Given the description of an element on the screen output the (x, y) to click on. 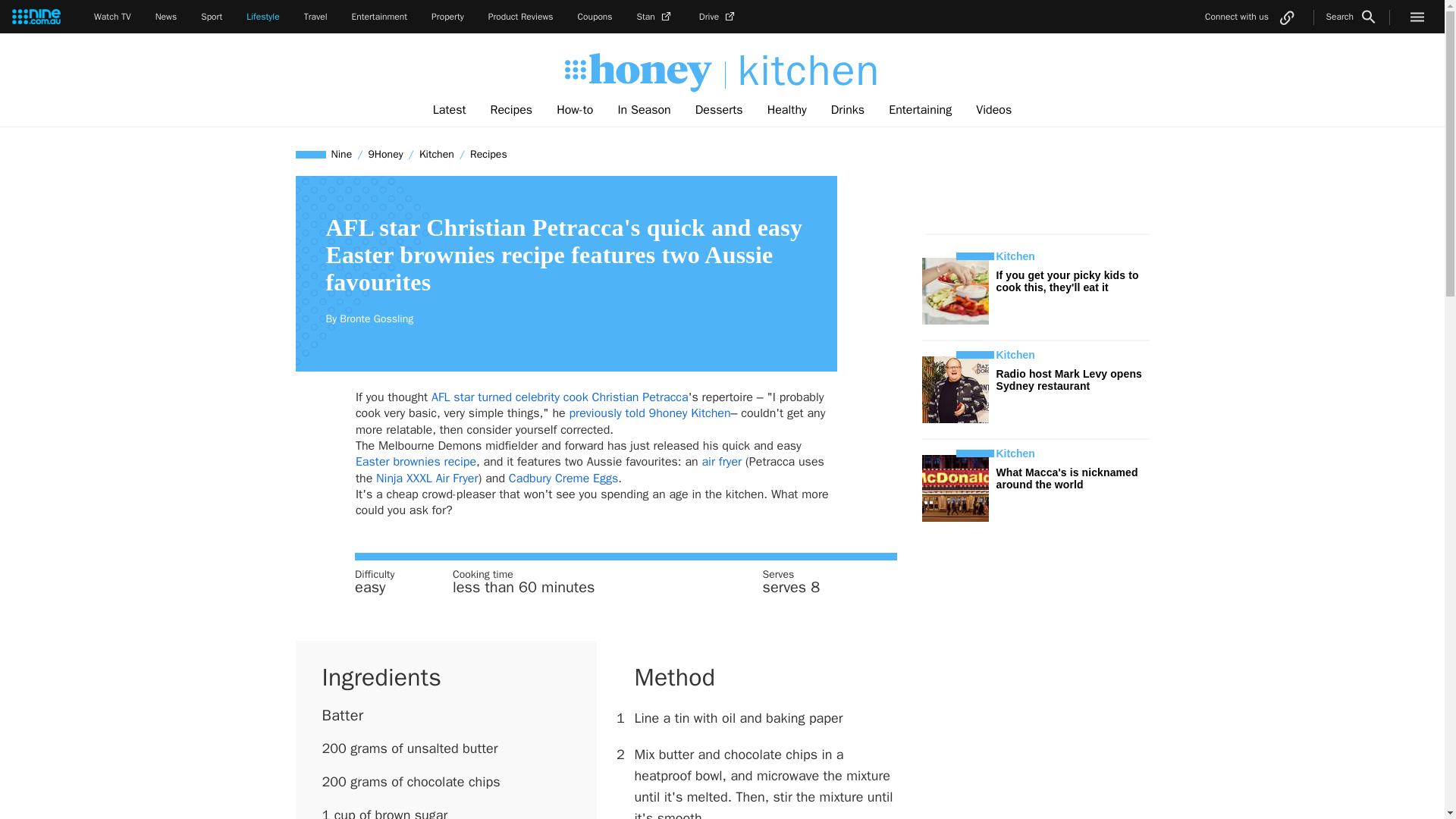
Watch TV (112, 16)
9Honey (384, 154)
Ingredients (381, 676)
In Season (643, 109)
Desserts (718, 109)
Drinks (847, 109)
Nine (342, 154)
Cadbury Creme Eggs (562, 478)
How-to (574, 109)
Entertainment (379, 16)
Lifestyle (262, 16)
Latest (449, 109)
kitchen (802, 71)
Easter brownies recipe (415, 461)
AFL star turned celebrity cook Christian Petracca (559, 396)
